Given the description of an element on the screen output the (x, y) to click on. 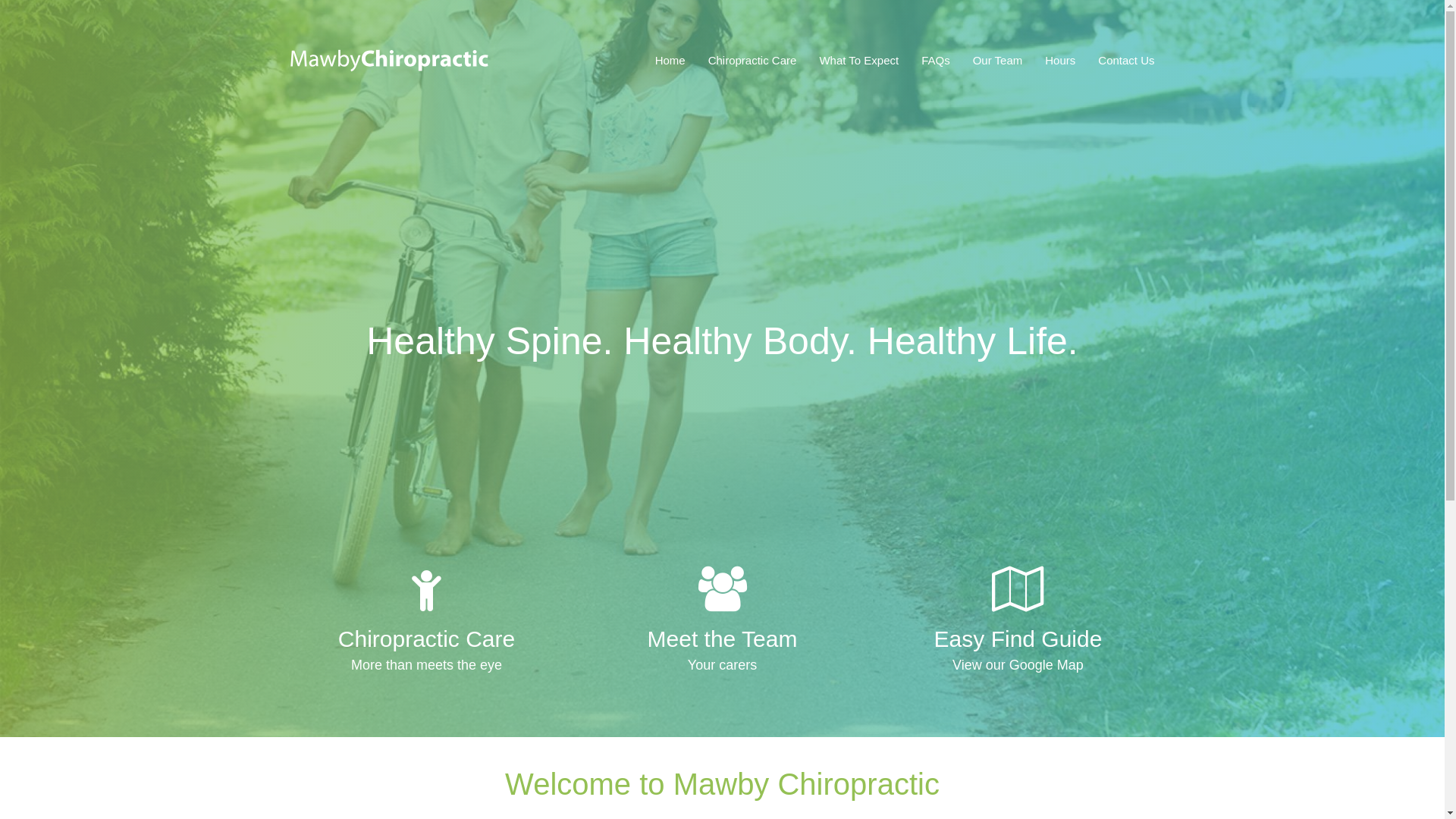
Contact Us Element type: text (1120, 60)
Chiropractic Care Element type: text (752, 60)
FAQs Element type: text (935, 60)
What To Expect Element type: text (858, 60)
Easy Find Guide
View our Google Map Element type: text (1017, 621)
Chiropractic Care
More than meets the eye Element type: text (425, 621)
Our Team Element type: text (997, 60)
Hours Element type: text (1059, 60)
Home Element type: text (675, 60)
Meet the Team
Your carers Element type: text (721, 621)
